Given the description of an element on the screen output the (x, y) to click on. 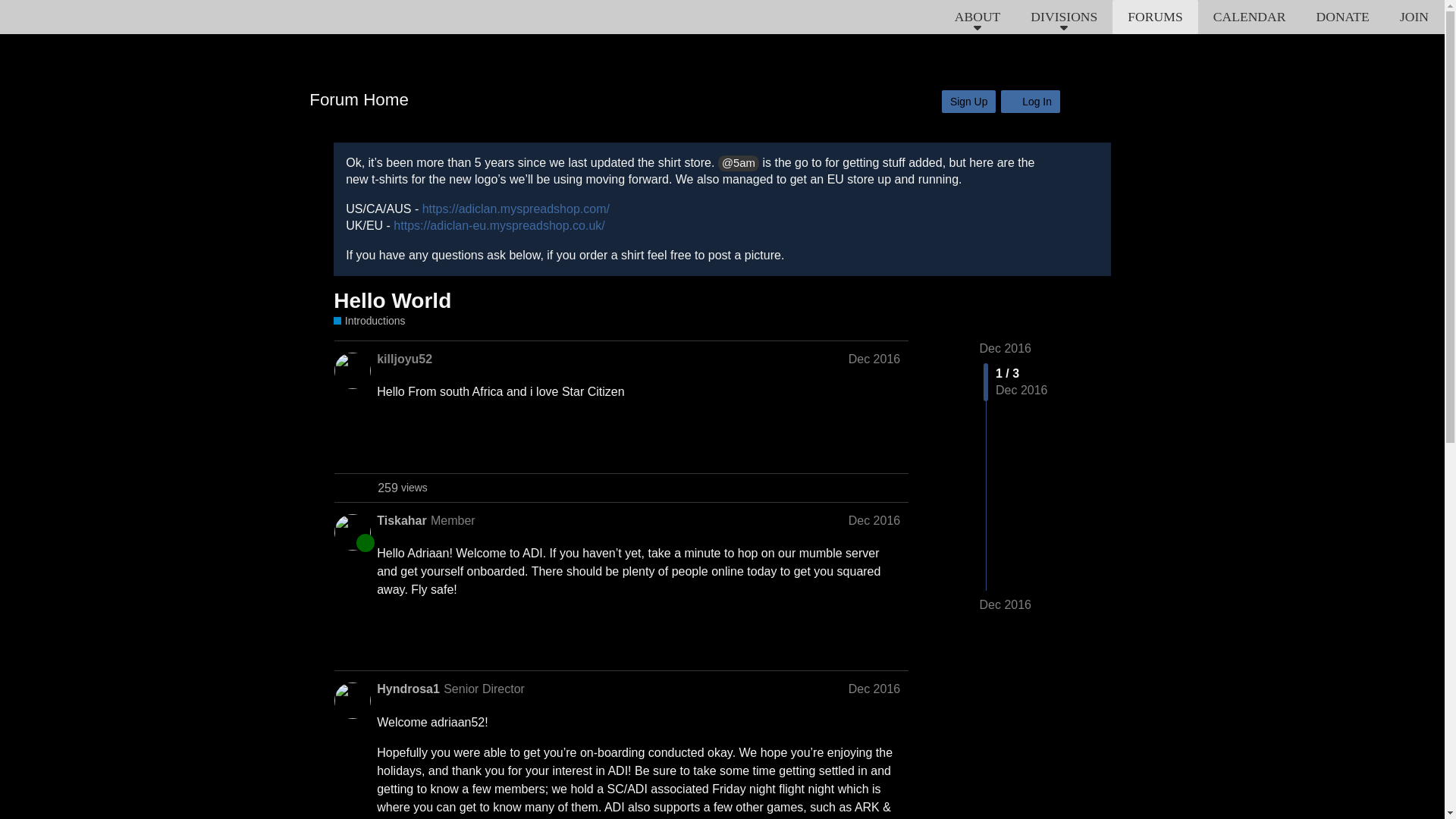
Log In (1030, 101)
Tiskahar (401, 520)
Member (453, 520)
like this post (860, 444)
Dec 2016 (402, 487)
CALENDAR (1005, 348)
FORUMS (1249, 17)
Sign Up (1154, 17)
